Given the description of an element on the screen output the (x, y) to click on. 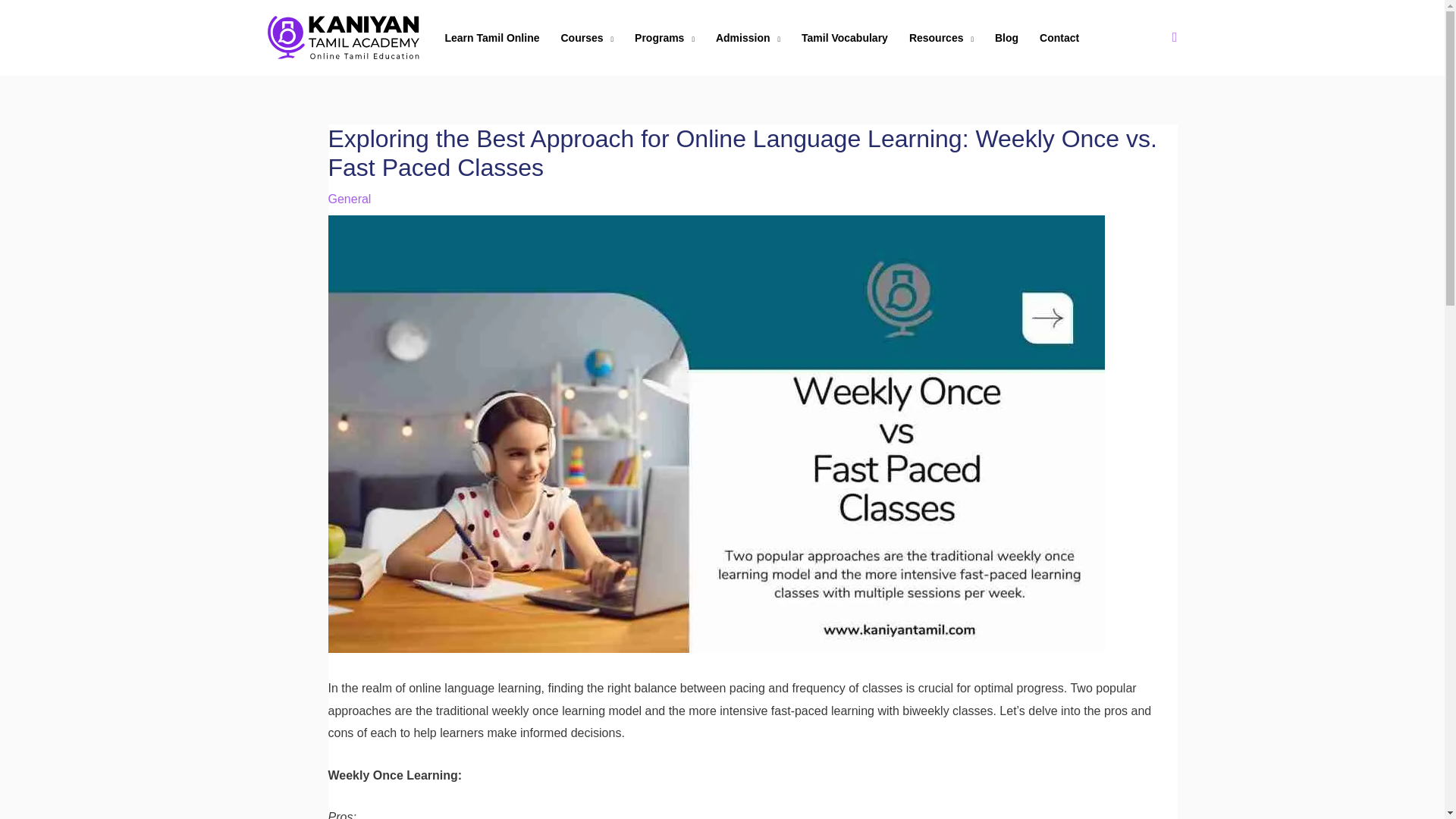
Courses (587, 36)
Tamil Vocabulary (844, 36)
Programs (664, 36)
Learn Tamil Online (491, 36)
Admission (747, 36)
Resources (941, 36)
